Given the description of an element on the screen output the (x, y) to click on. 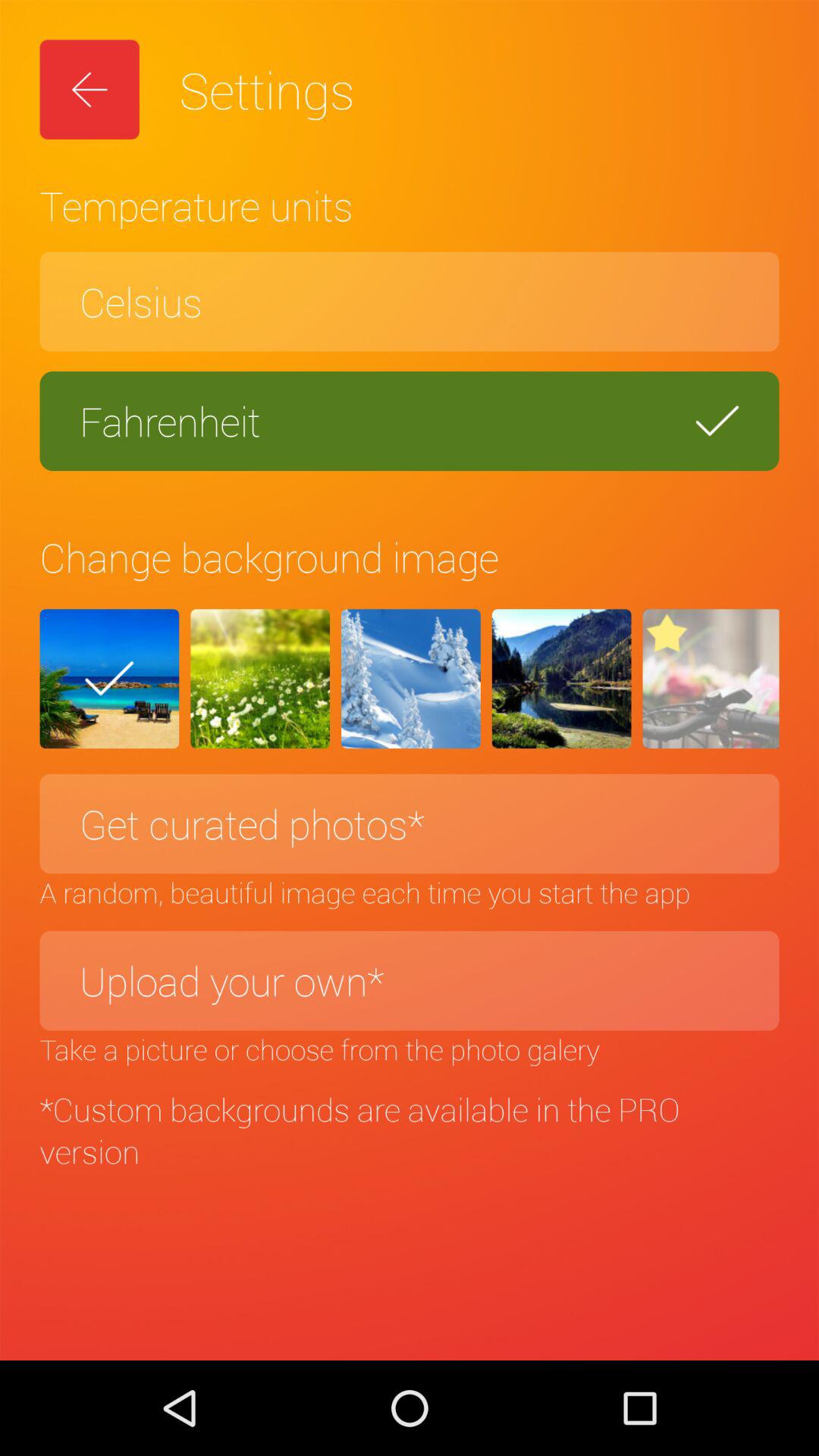
choose icon below take a picture item (409, 1130)
